Given the description of an element on the screen output the (x, y) to click on. 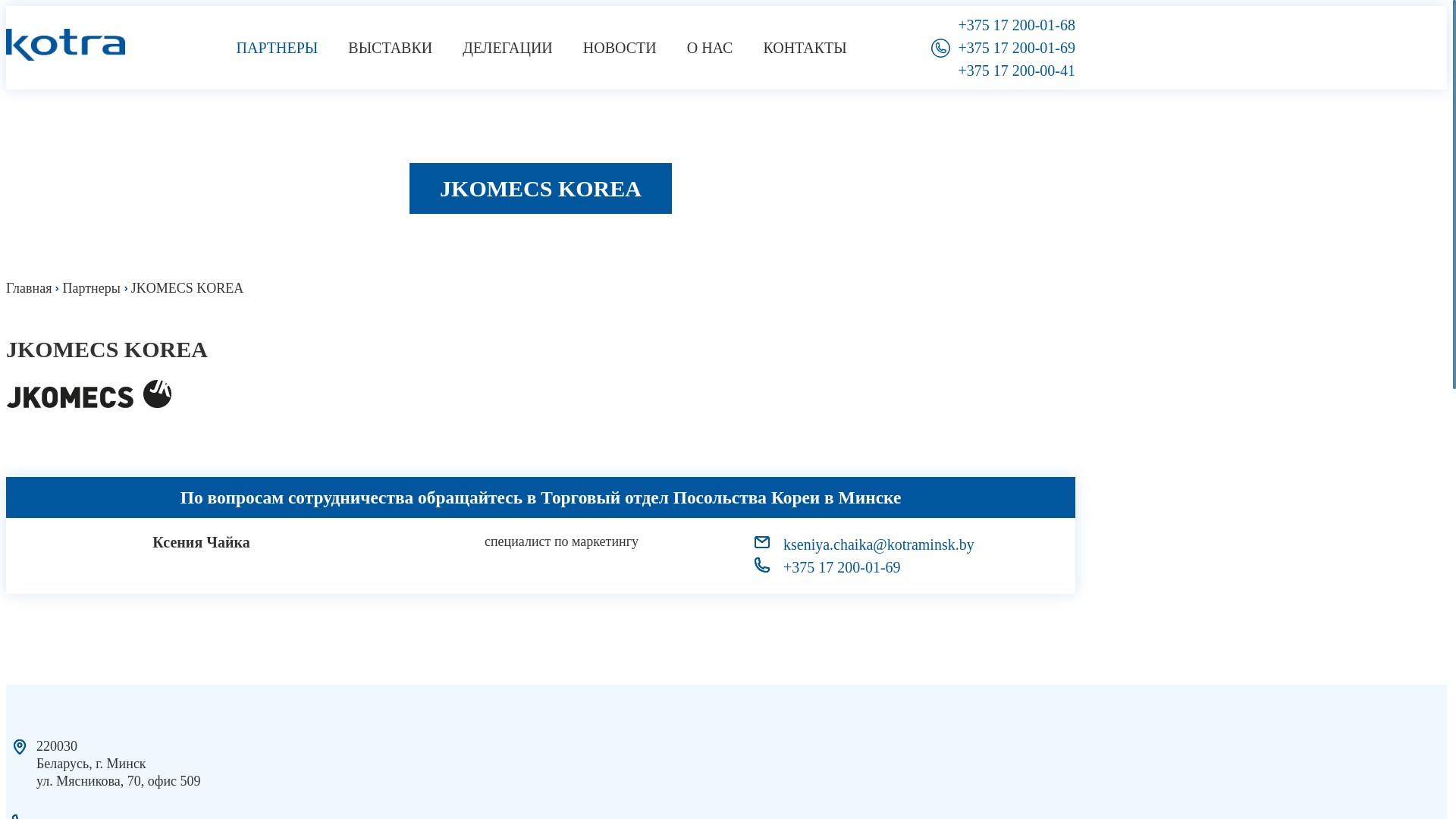
+375 17 200-00-41 Element type: text (1016, 70)
+375 17 200-01-69 Element type: text (915, 566)
+375 17 200-01-69 Element type: text (1016, 47)
JKOMECS KOREA Element type: text (540, 349)
kseniya.chaika@kotraminsk.by Element type: text (915, 544)
+375 17 200-01-68 Element type: text (1016, 24)
